Given the description of an element on the screen output the (x, y) to click on. 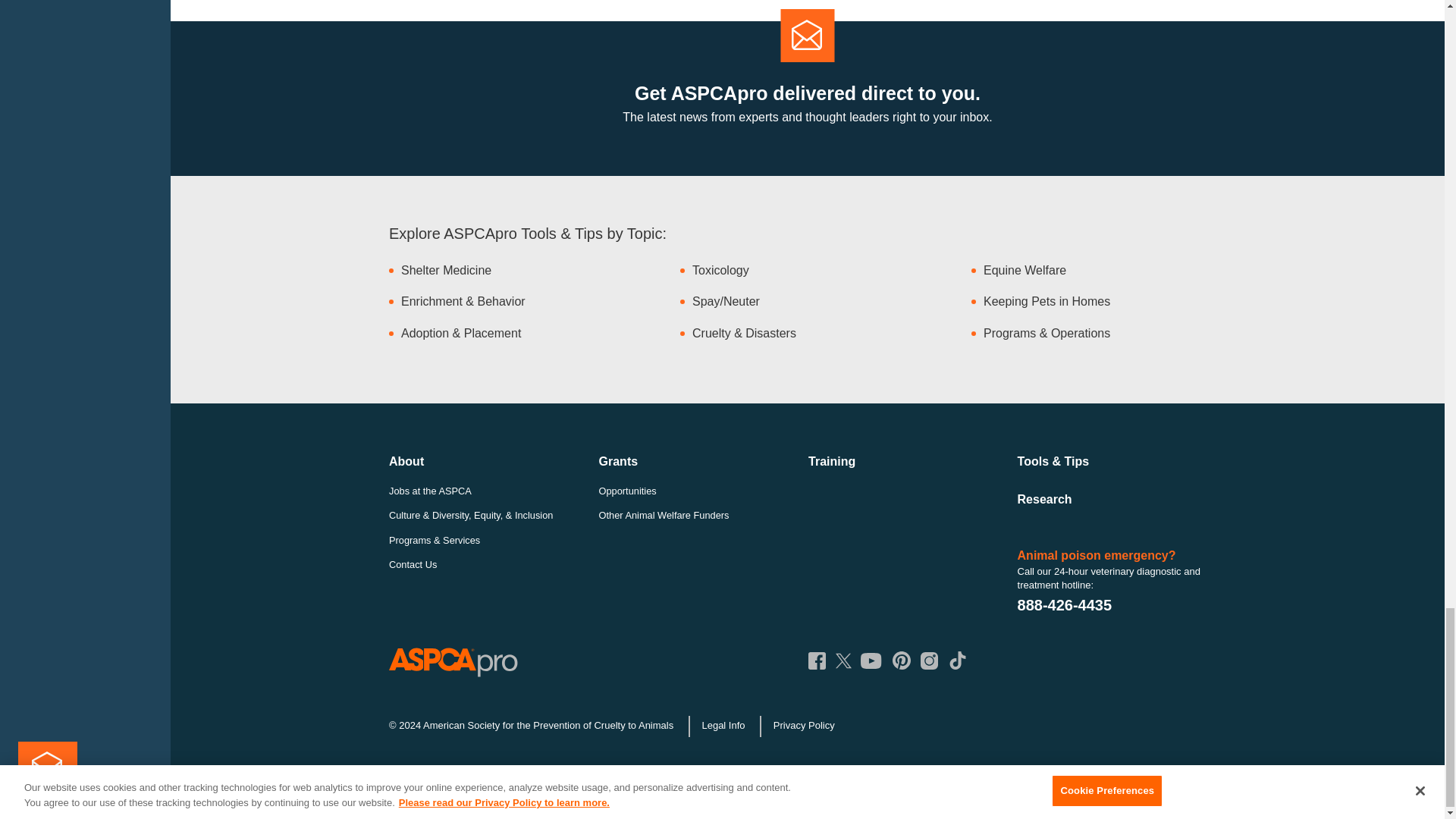
Twitter (843, 660)
Facebook (816, 660)
Pinterest (901, 660)
YouTube (871, 660)
Instagram (928, 660)
